Given the description of an element on the screen output the (x, y) to click on. 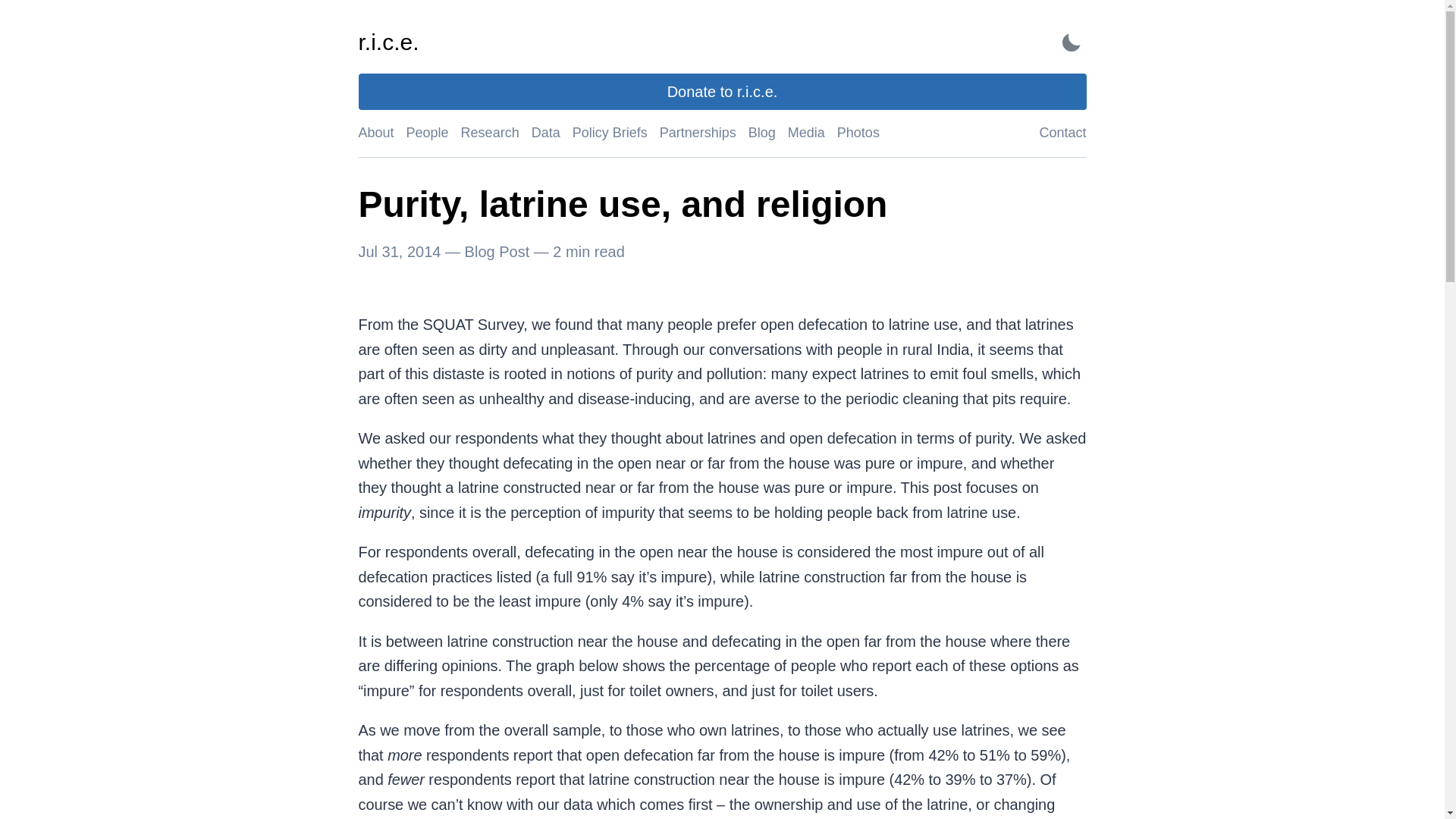
About (375, 132)
Blog Post (496, 250)
Media (806, 132)
Policy Briefs (609, 132)
Data (545, 132)
People (427, 132)
Blog (762, 132)
Photos (858, 132)
Donate to r.i.c.e. (722, 92)
Activate Dark Mode (1070, 42)
